Given the description of an element on the screen output the (x, y) to click on. 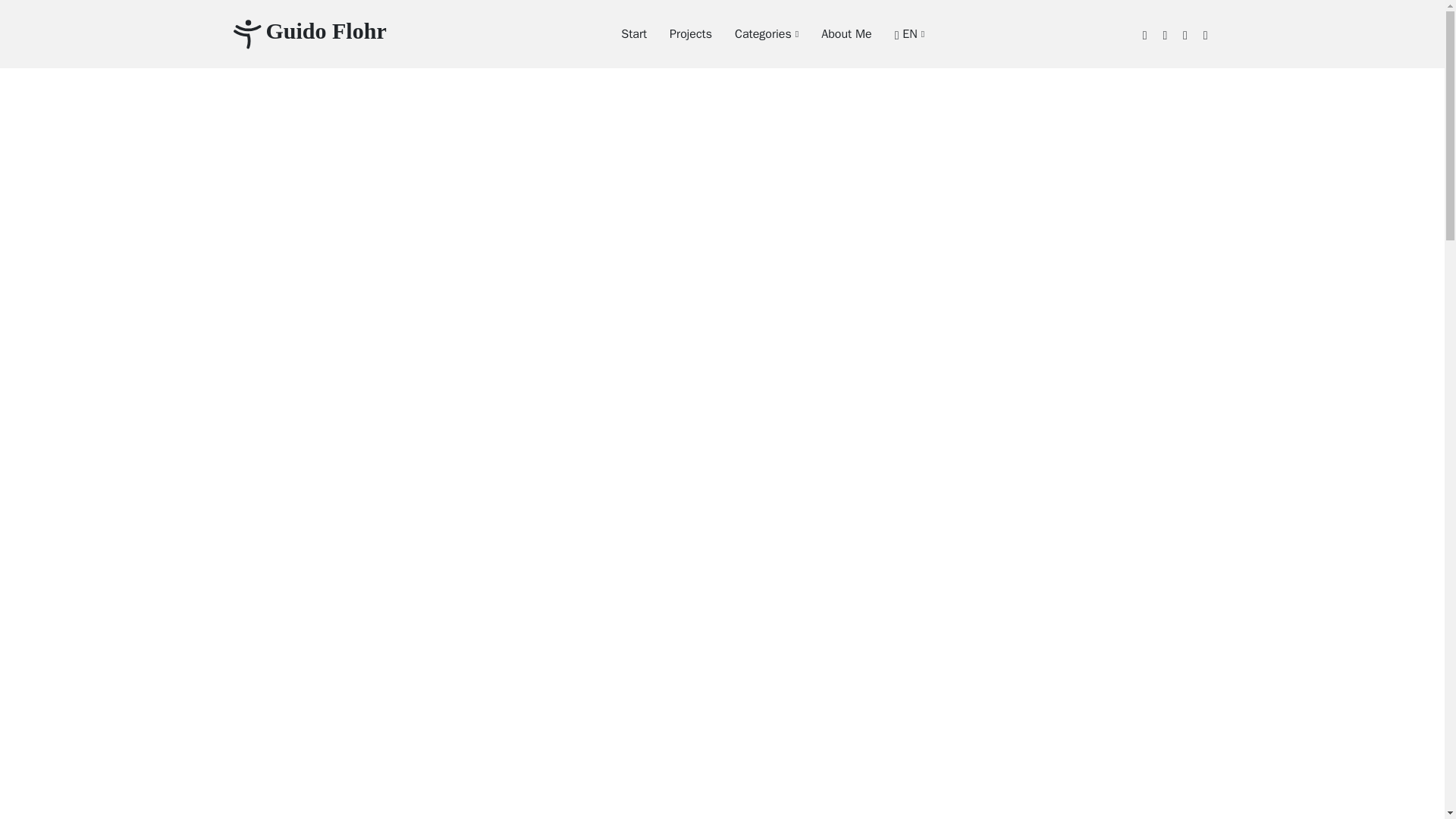
Projects (678, 33)
About Me (833, 33)
 EN (898, 33)
Start (622, 33)
Categories (754, 33)
Guido Flohr (307, 33)
